Given the description of an element on the screen output the (x, y) to click on. 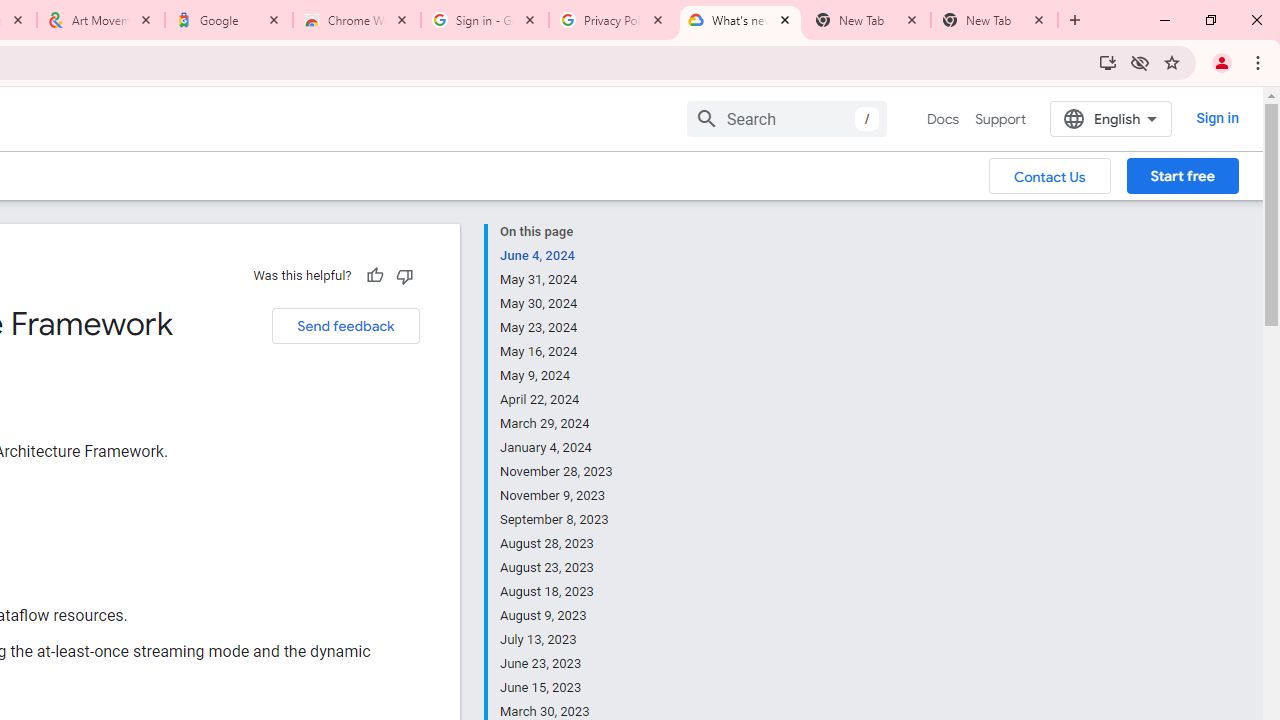
Send feedback (345, 326)
June 15, 2023 (557, 687)
May 31, 2024 (557, 279)
Install Google Cloud (1107, 62)
March 29, 2024 (557, 423)
November 9, 2023 (557, 495)
May 30, 2024 (557, 304)
